Given the description of an element on the screen output the (x, y) to click on. 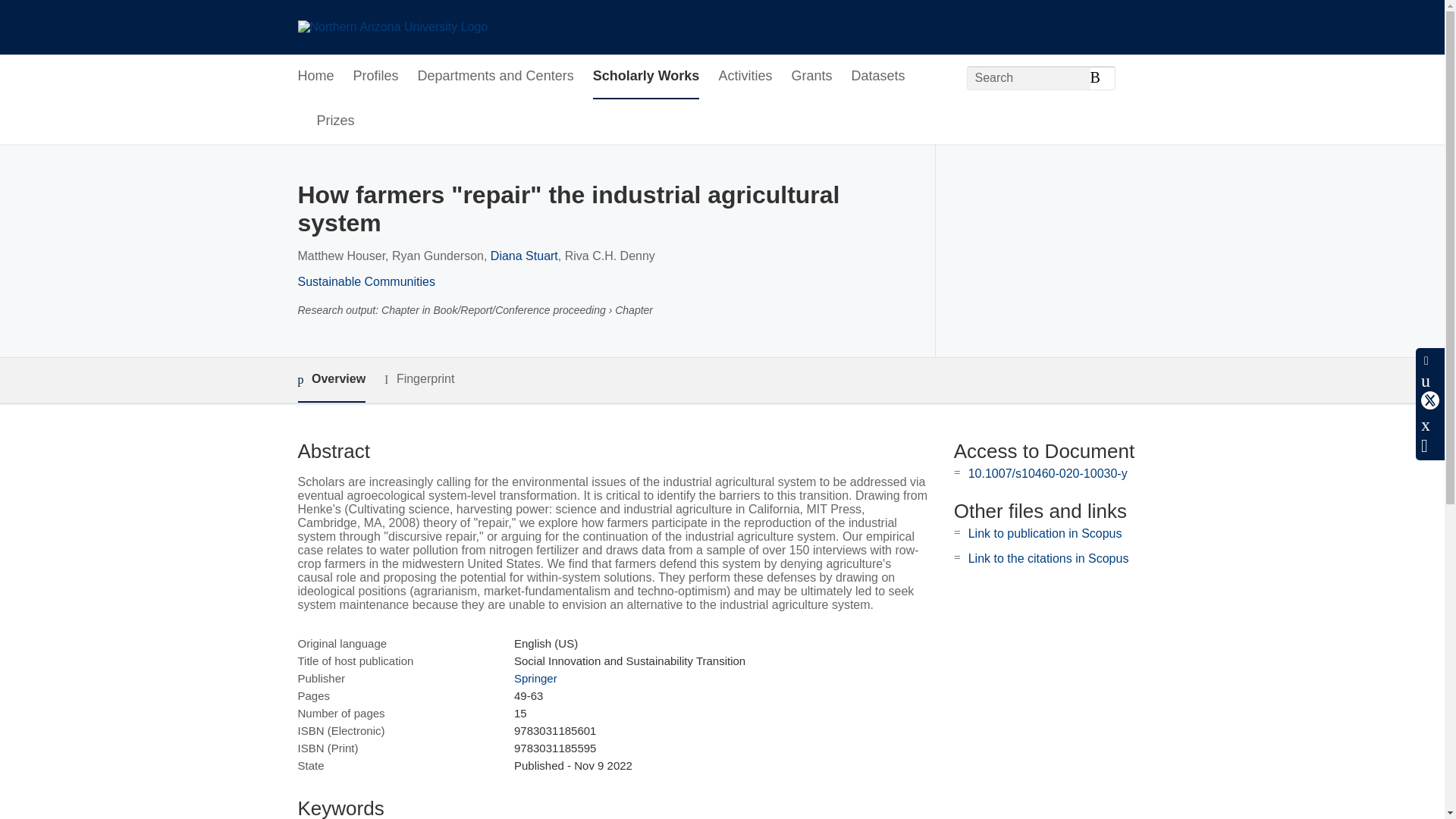
Springer (535, 677)
Overview (331, 379)
Scholarly Works (646, 76)
Link to the citations in Scopus (1048, 558)
Link to publication in Scopus (1045, 533)
Sustainable Communities (365, 281)
Activities (744, 76)
Home (315, 76)
Profiles (375, 76)
Northern Arizona University Home (392, 27)
Prizes (336, 121)
Diana Stuart (523, 255)
Datasets (877, 76)
Grants (810, 76)
